Given the description of an element on the screen output the (x, y) to click on. 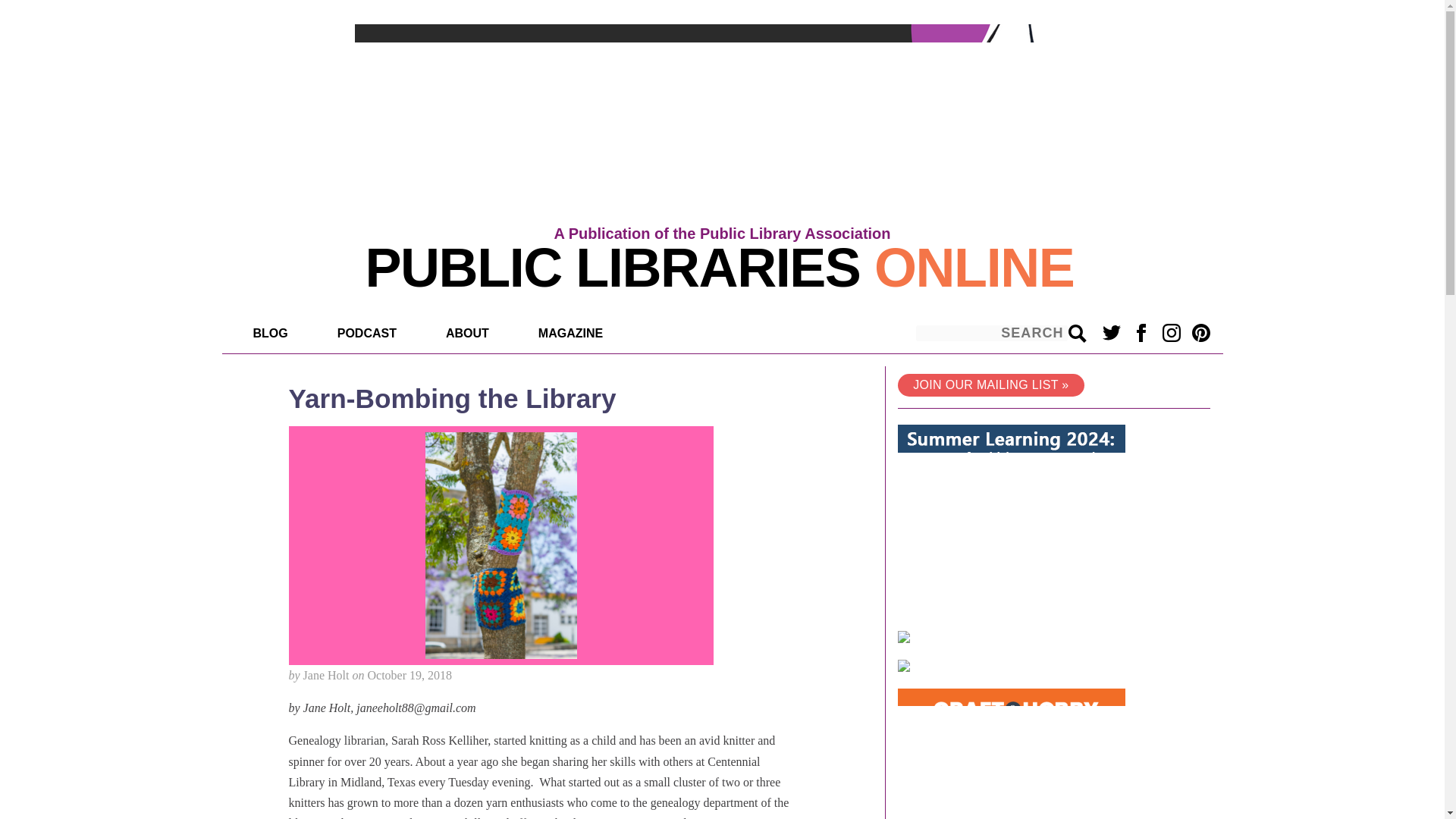
ABOUT (472, 331)
BLOG (274, 331)
Facebook (1141, 332)
A Publication of the Public Library Association (720, 233)
Submit (1077, 333)
Instagram (1170, 332)
MAGAZINE (576, 331)
PODCAST (372, 331)
Pinterest (1201, 332)
Yarn-Bombing the Library (451, 398)
Submit (1077, 333)
PUBLIC LIBRARIES ONLINE (719, 267)
Twitter (1111, 332)
